Given the description of an element on the screen output the (x, y) to click on. 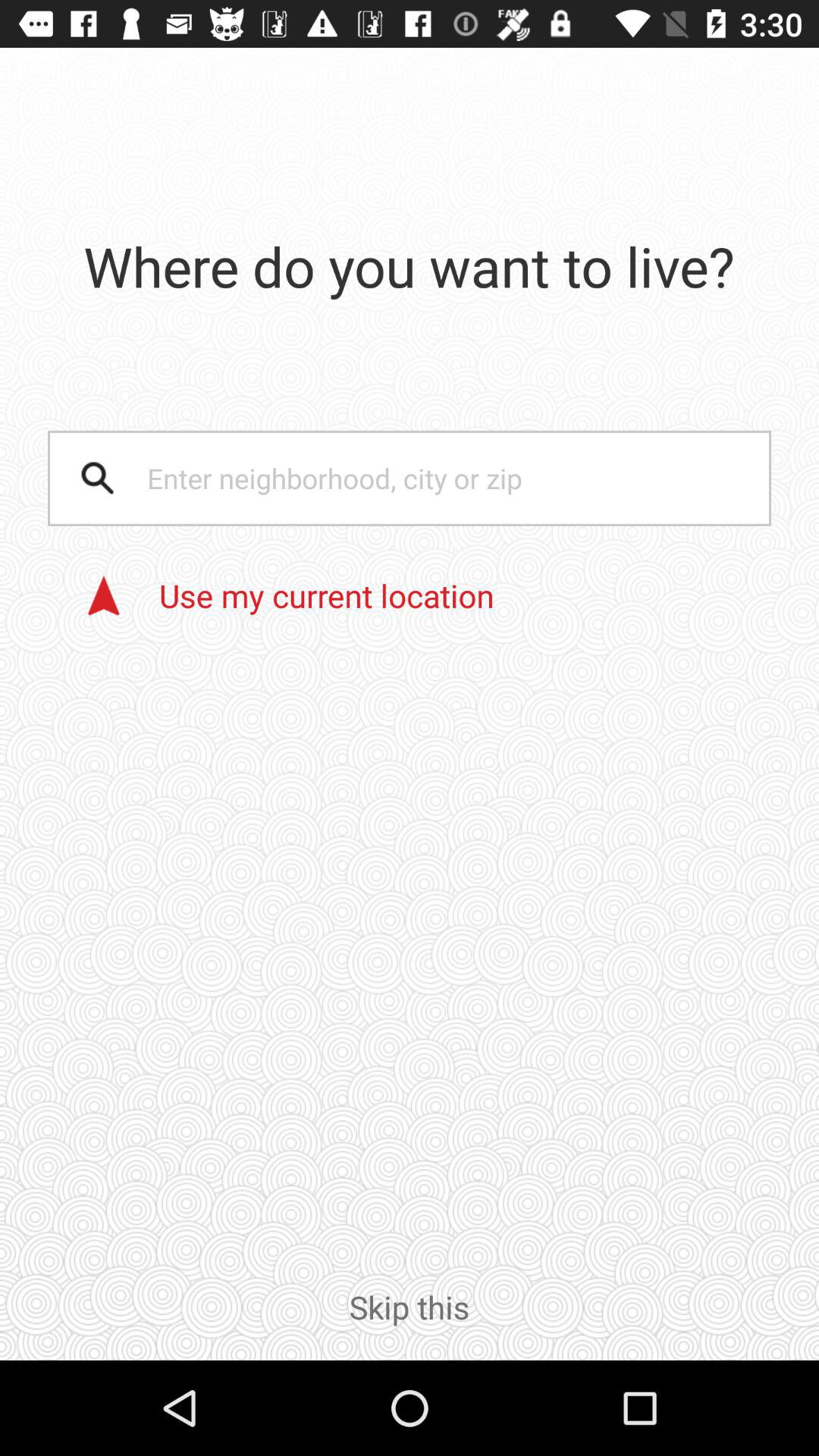
turn off skip this (409, 1322)
